Given the description of an element on the screen output the (x, y) to click on. 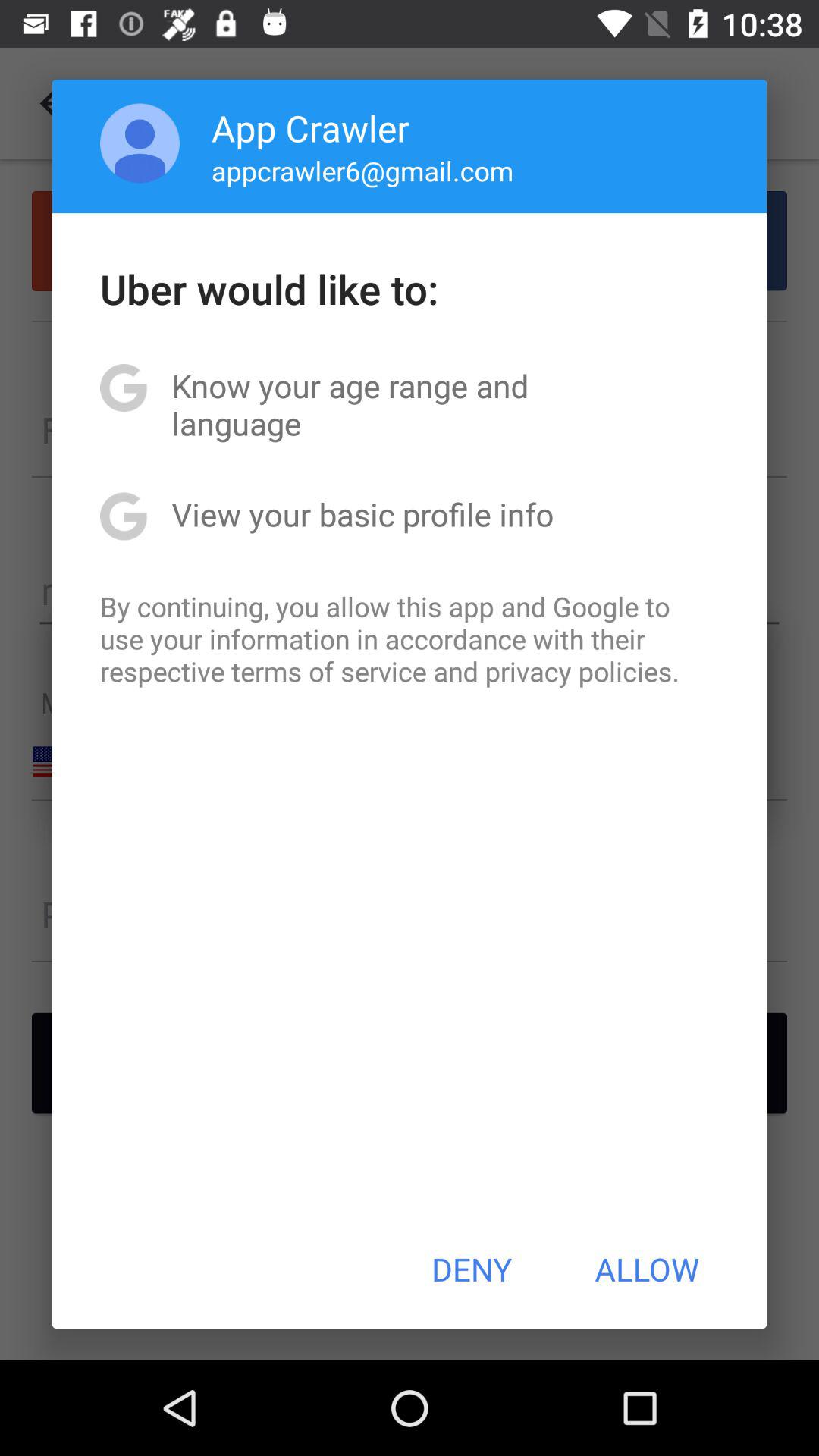
flip to deny icon (471, 1268)
